Given the description of an element on the screen output the (x, y) to click on. 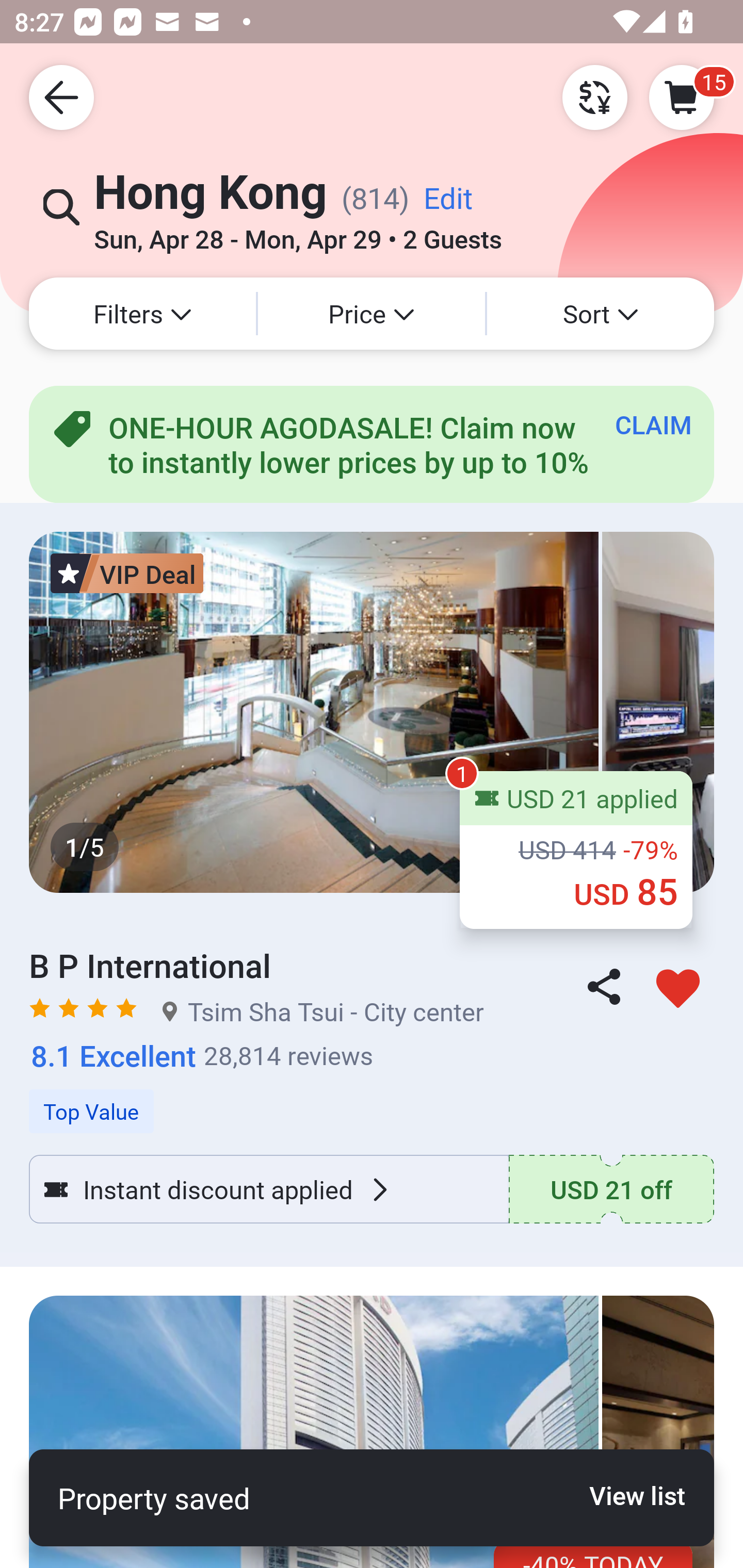
Filters (141, 313)
Price (371, 313)
Sort (600, 313)
CLAIM (653, 424)
VIP Deal (126, 572)
1/5 (371, 711)
USD 21 applied ‪USD 414 -79% ‪USD 85 1 (575, 849)
Top Value (371, 1100)
Instant discount applied USD 21 off (371, 1189)
View list (626, 1494)
